Given the description of an element on the screen output the (x, y) to click on. 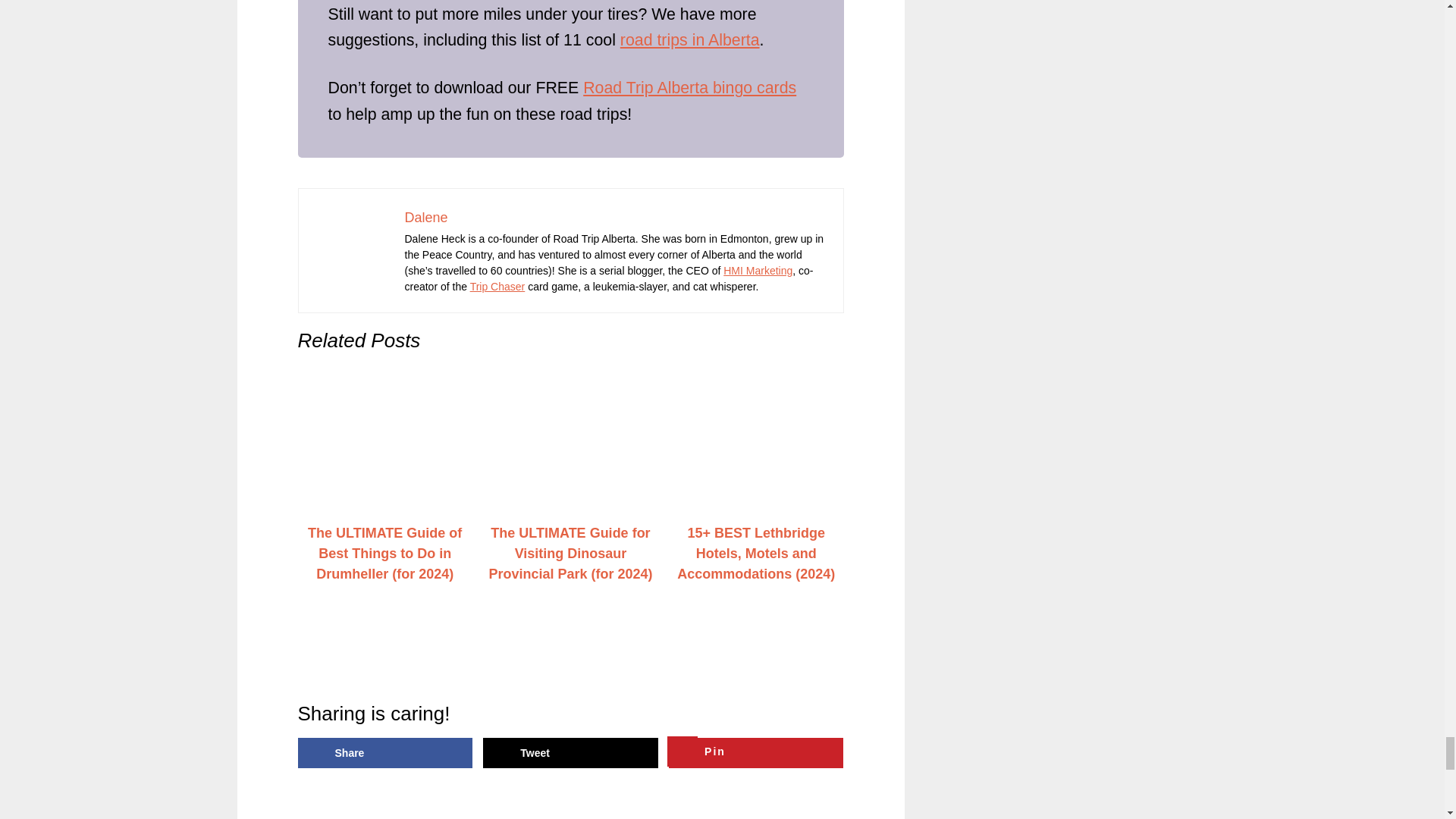
Share on Facebook (384, 752)
Share on X (570, 752)
Save to Pinterest (755, 752)
